Given the description of an element on the screen output the (x, y) to click on. 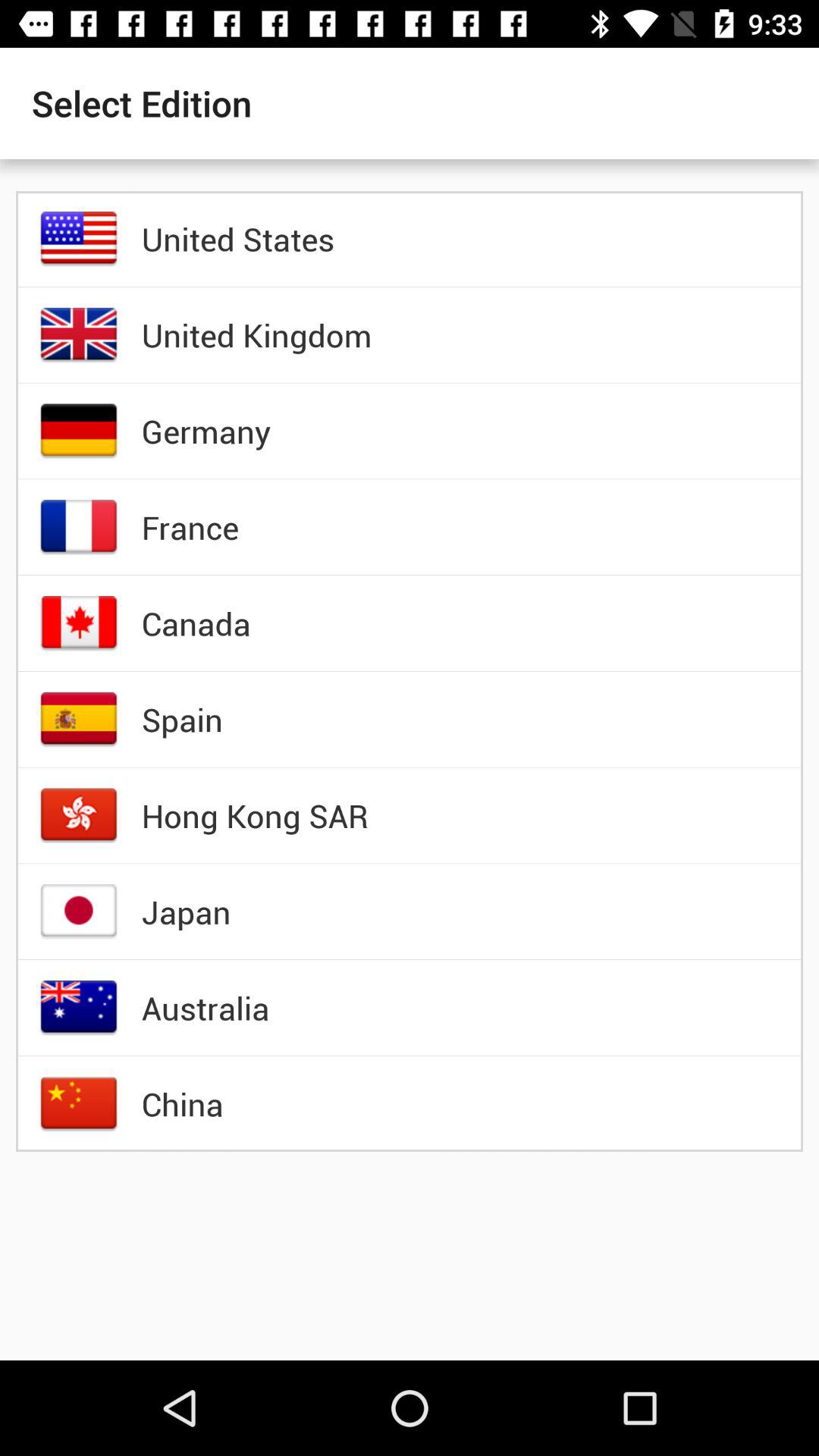
swipe to australia (205, 1007)
